Given the description of an element on the screen output the (x, y) to click on. 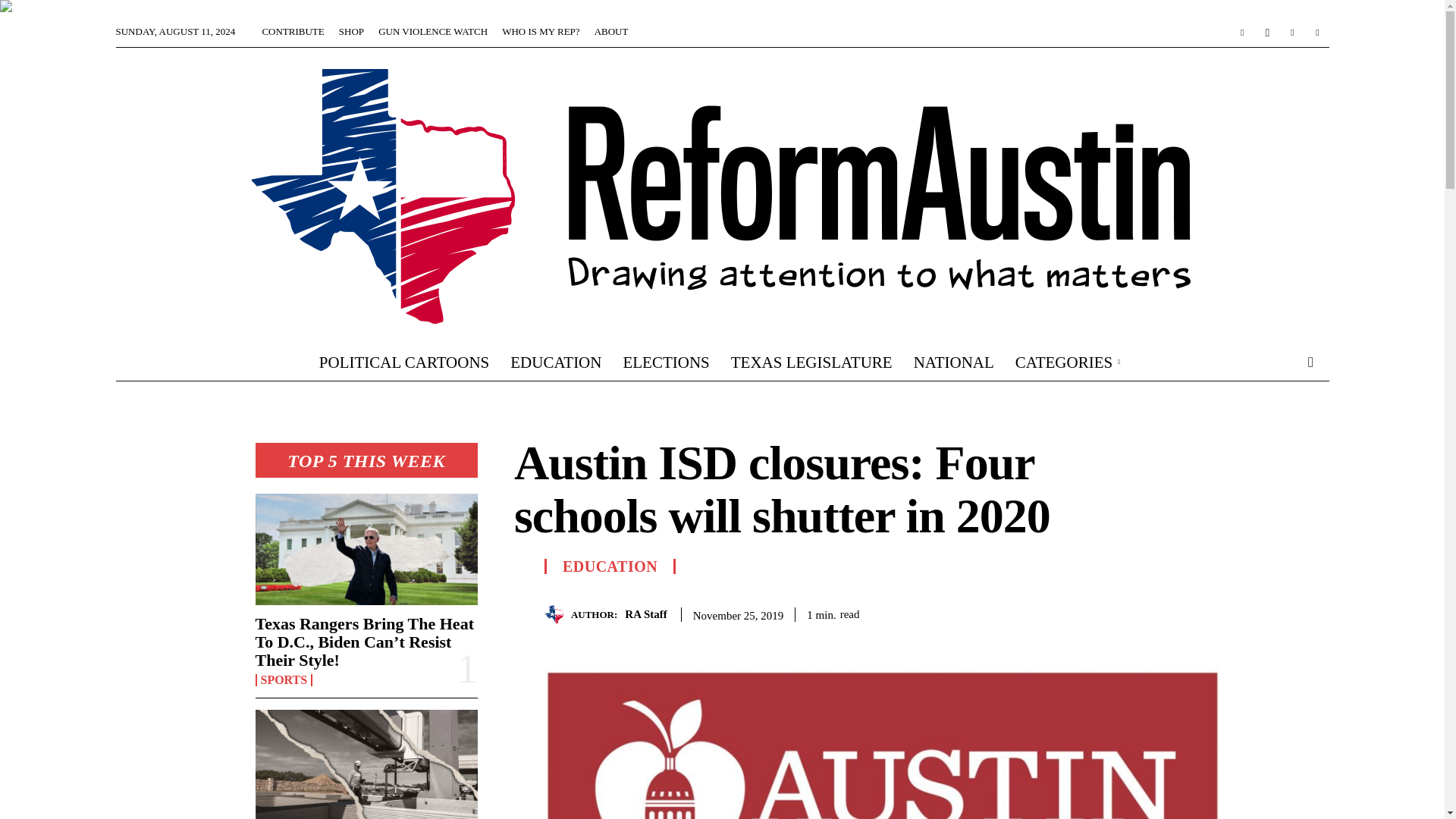
CONTRIBUTE (292, 30)
Massive 3D Printer Constructs 100 Homes In Texas (365, 764)
ABOUT (611, 30)
SHOP (351, 30)
WHO IS MY REP? (540, 30)
GUN VIOLENCE WATCH (432, 30)
